Given the description of an element on the screen output the (x, y) to click on. 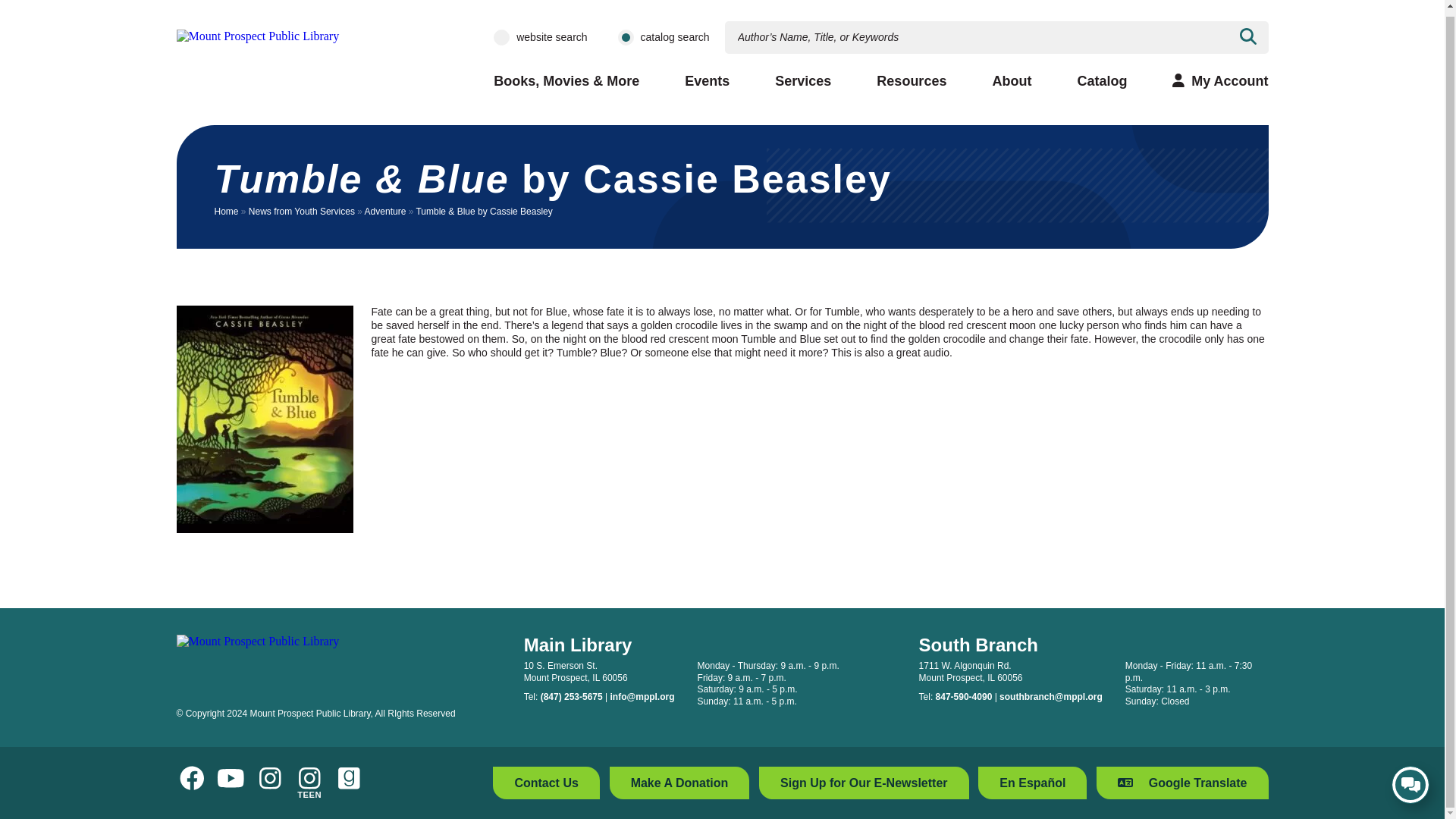
catalog (625, 37)
Events (707, 81)
website (501, 37)
Books, Movies, and More: Browse our selection (566, 81)
website (501, 37)
catalog (625, 37)
Services (802, 81)
